Given the description of an element on the screen output the (x, y) to click on. 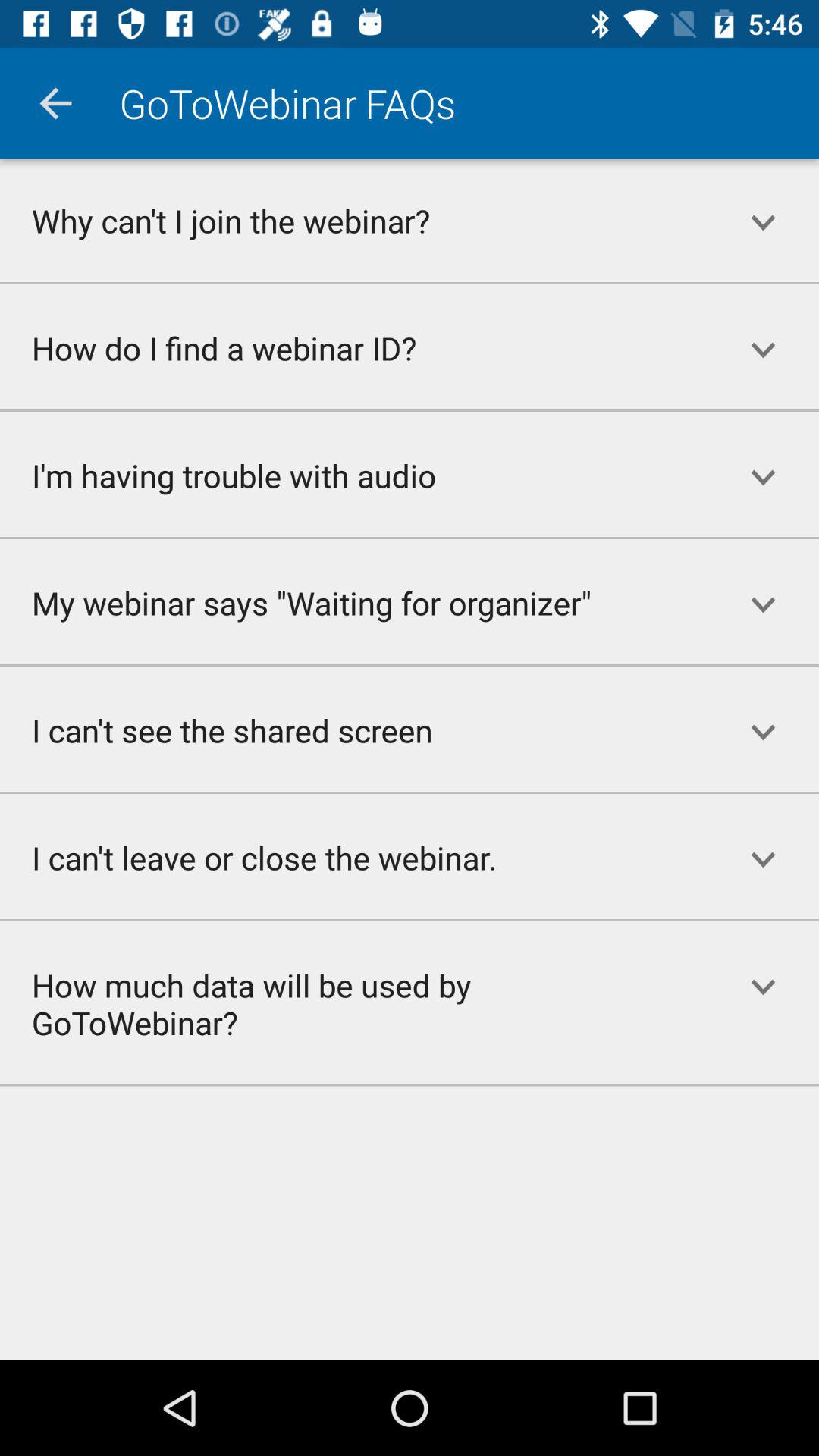
scroll to the my webinar says item (353, 602)
